Given the description of an element on the screen output the (x, y) to click on. 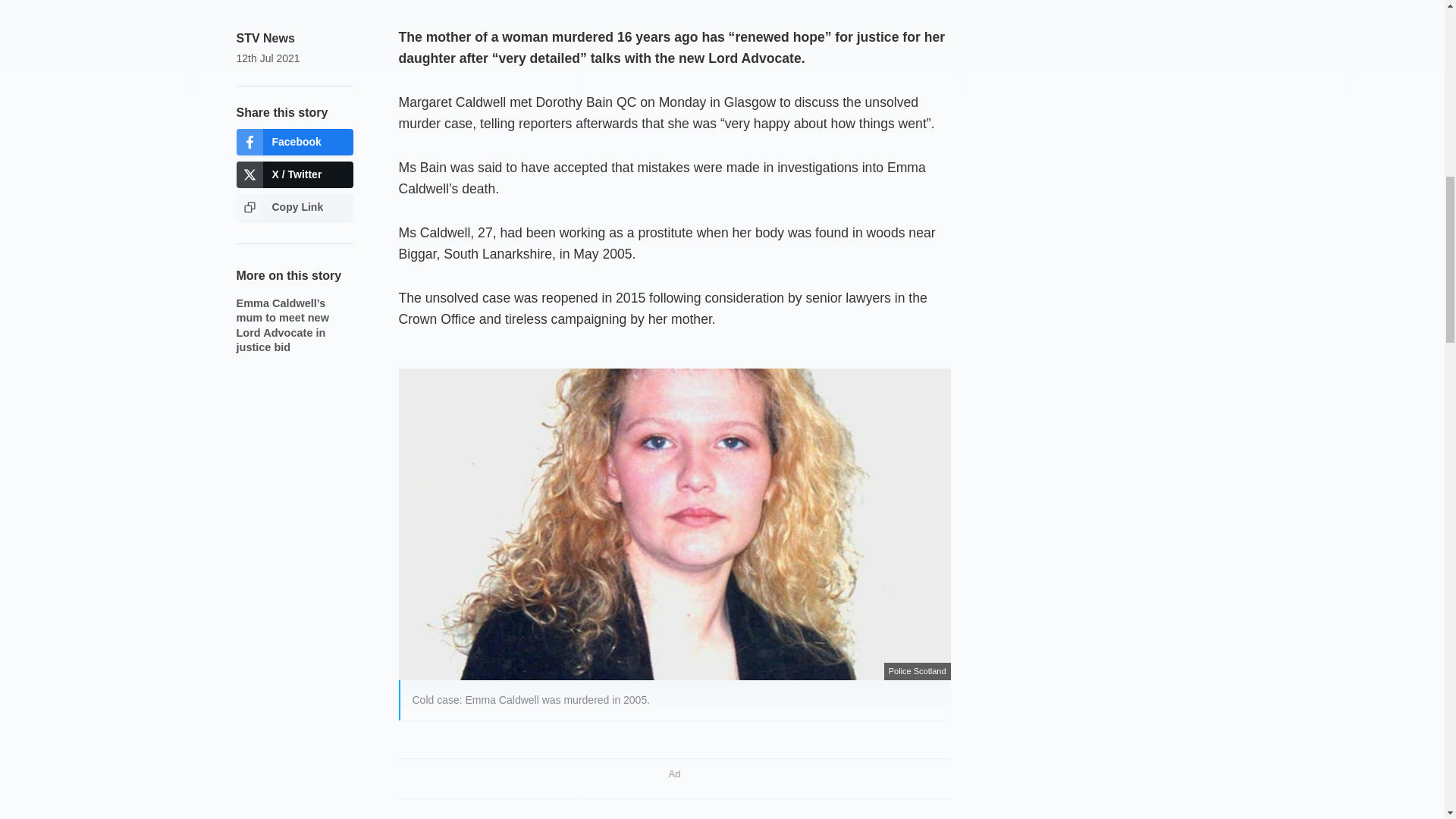
Facebook (294, 141)
